Given the description of an element on the screen output the (x, y) to click on. 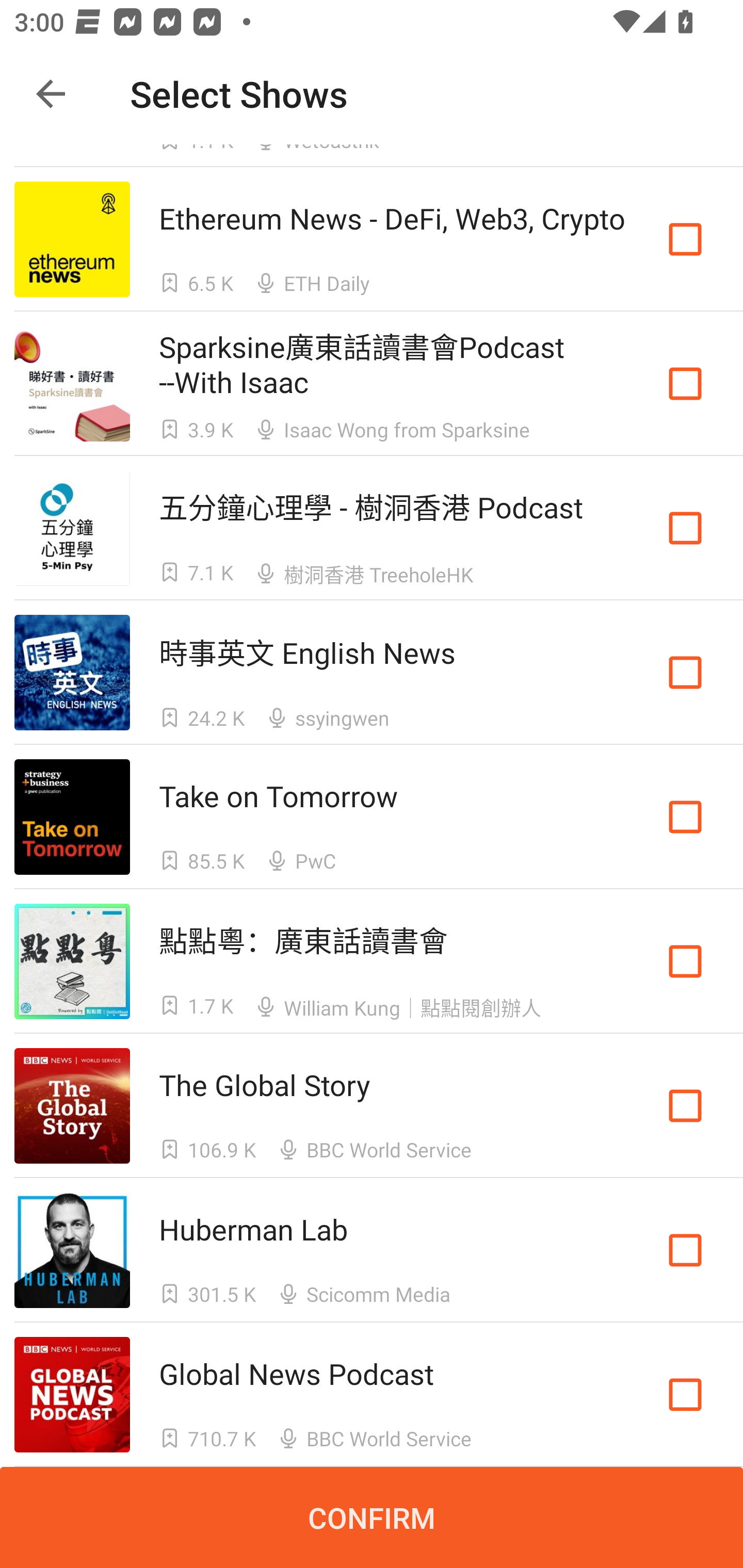
Navigate up (50, 93)
Take on Tomorrow Take on Tomorrow  85.5 K  PwC (371, 816)
CONFIRM (371, 1517)
